Given the description of an element on the screen output the (x, y) to click on. 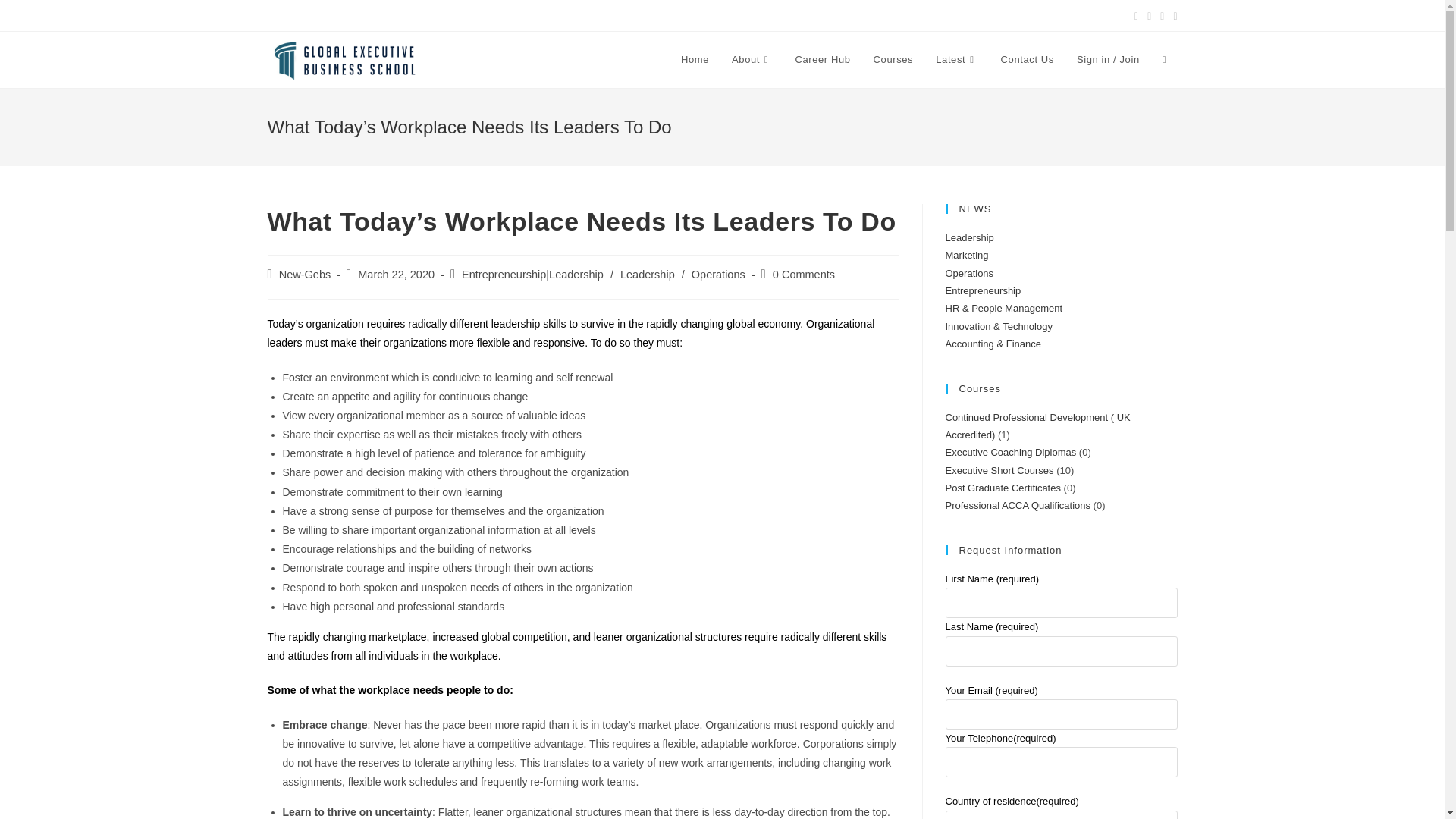
Posts by New-Gebs (305, 274)
Courses (892, 59)
About (751, 59)
New-Gebs (305, 274)
Contact Us (1027, 59)
Career Hub (822, 59)
Home (694, 59)
Latest (956, 59)
